Given the description of an element on the screen output the (x, y) to click on. 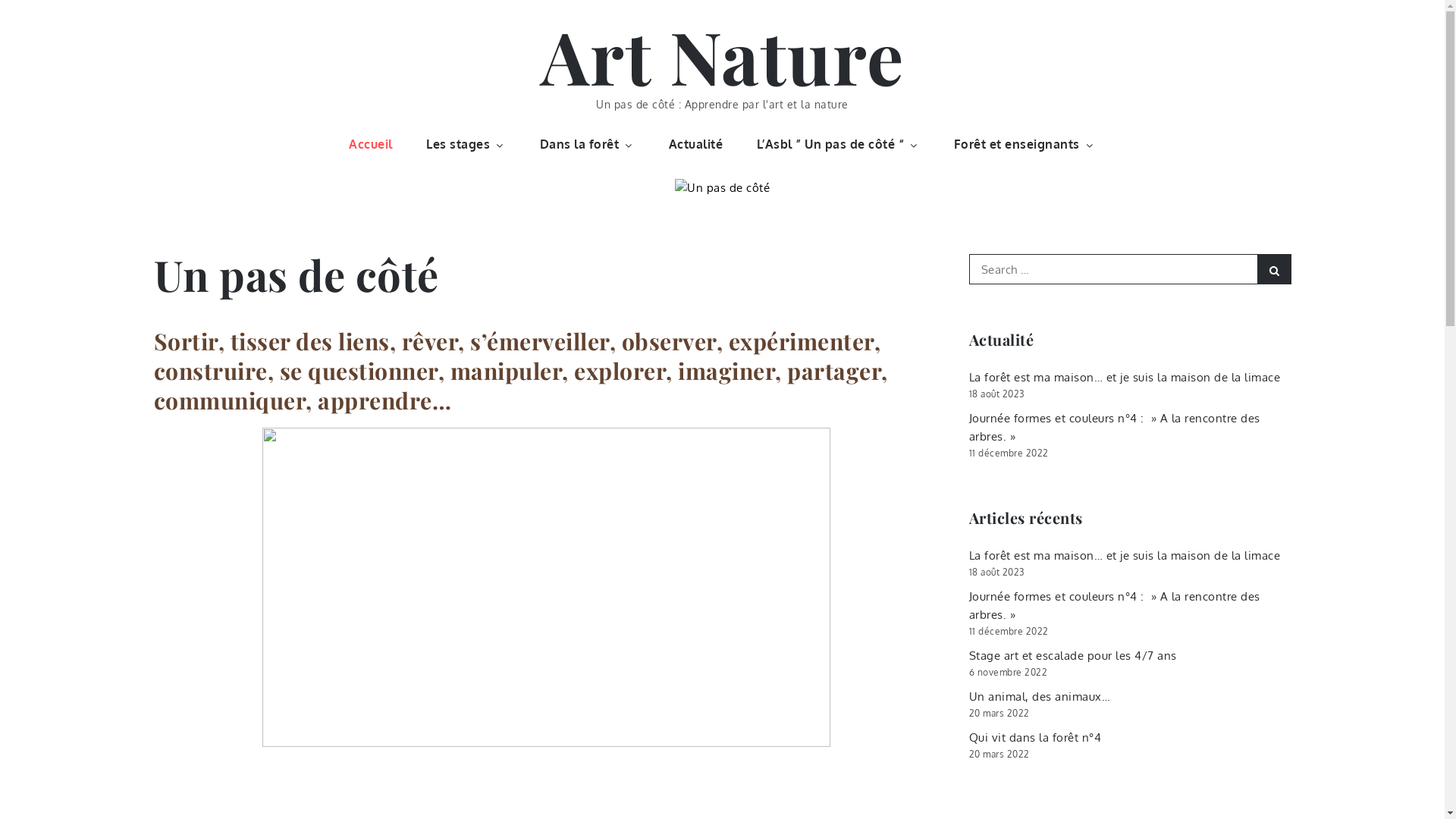
Les stages Element type: text (465, 143)
Search Element type: text (1274, 269)
Accueil Element type: text (370, 143)
Art Nature Element type: text (721, 54)
Stage art et escalade pour les 4/7 ans Element type: text (1072, 655)
